Given the description of an element on the screen output the (x, y) to click on. 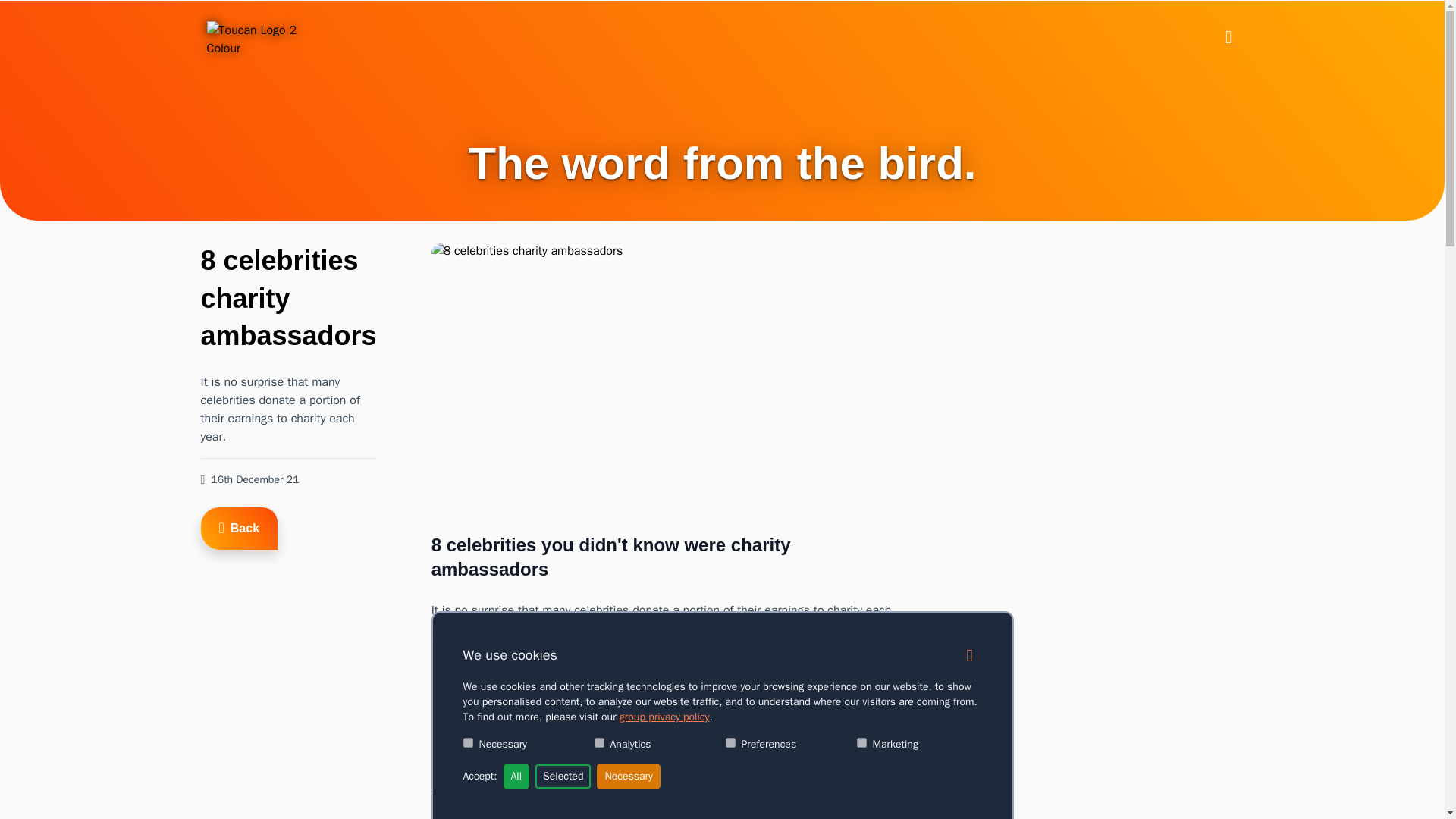
All (516, 776)
on (467, 742)
Selected (563, 776)
on (599, 742)
Marketing (861, 742)
group privacy policy (665, 716)
Necessary (627, 776)
Back (239, 527)
Preferences (730, 742)
